Given the description of an element on the screen output the (x, y) to click on. 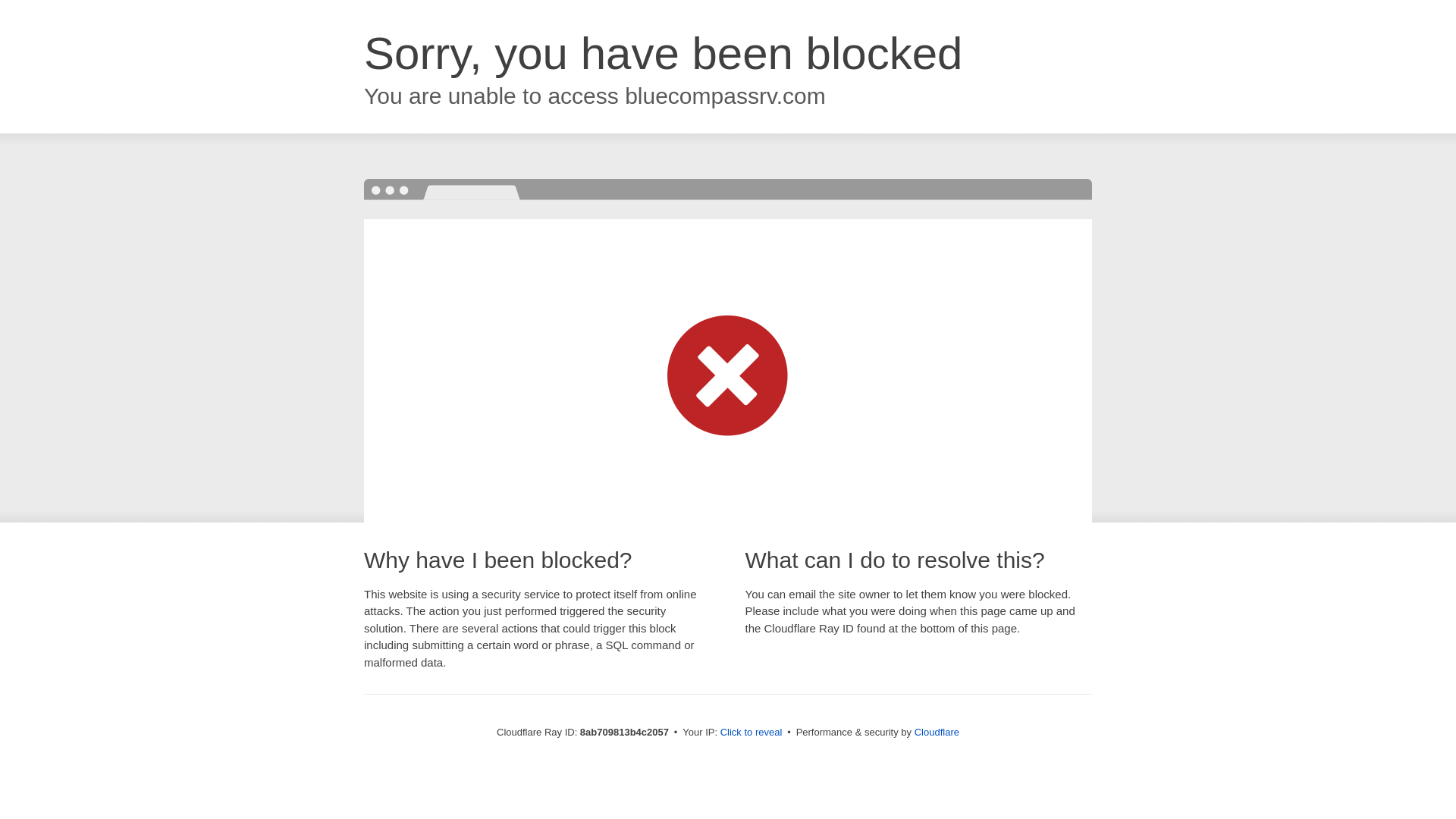
Cloudflare (936, 731)
Click to reveal (751, 732)
